Given the description of an element on the screen output the (x, y) to click on. 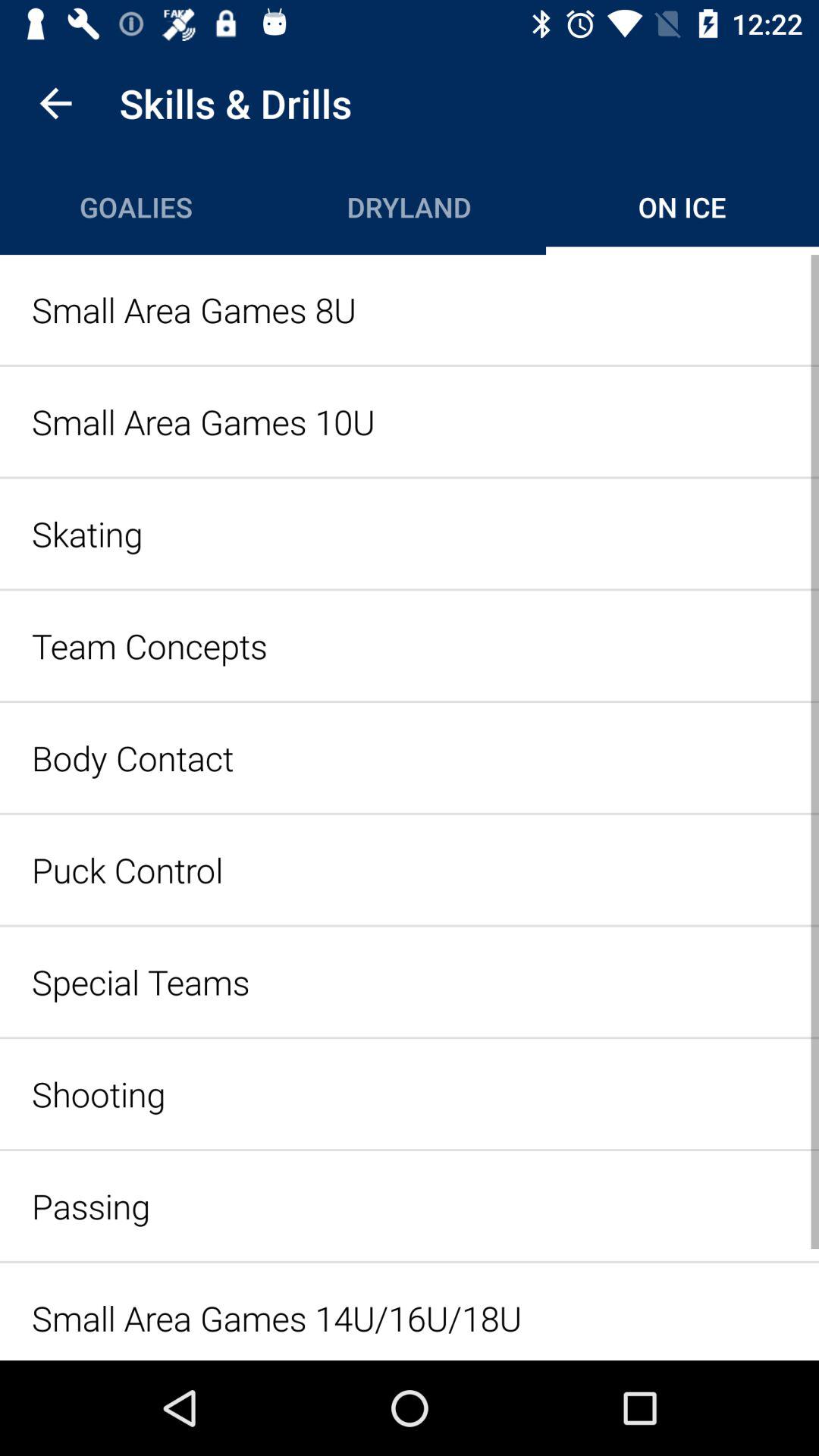
tap item above the shooting item (409, 981)
